Given the description of an element on the screen output the (x, y) to click on. 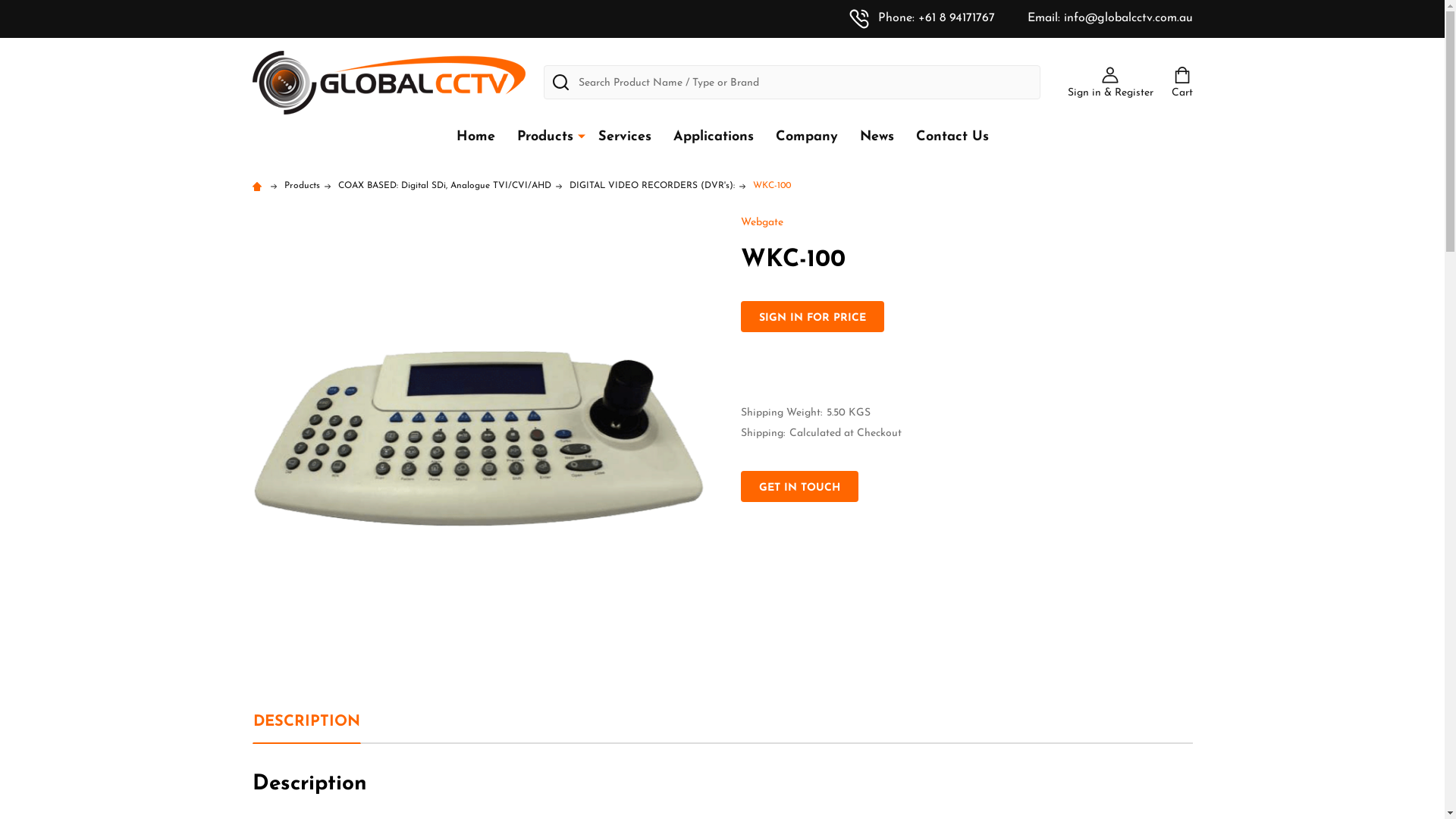
Applications Element type: text (713, 136)
SIGN IN FOR PRICE Element type: text (811, 316)
Sign in & Register Element type: text (1110, 82)
Cart Element type: text (1181, 82)
Email: info@globalcctv.com.au Element type: text (1094, 18)
Contact Us Element type: text (951, 136)
Services Element type: text (623, 136)
WKC-100 Element type: hover (477, 438)
Home Element type: text (475, 136)
Products Element type: text (301, 185)
DESCRIPTION Element type: text (306, 721)
News Element type: text (876, 136)
Products Element type: text (541, 136)
More Element type: hover (581, 135)
Webgate Element type: text (761, 222)
Company Element type: text (805, 136)
DIGITAL VIDEO RECORDERS (DVR's): Element type: text (651, 185)
COAX BASED: Digital SDi, Analogue TVI/CVI/AHD Element type: text (444, 185)
GET IN TOUCH Element type: text (798, 486)
Home Element type: hover (258, 185)
WKC-100 Element type: text (771, 185)
Global CCTV PTY LTD Element type: hover (387, 81)
Phone: +61 8 94171767 Element type: text (921, 18)
